Given the description of an element on the screen output the (x, y) to click on. 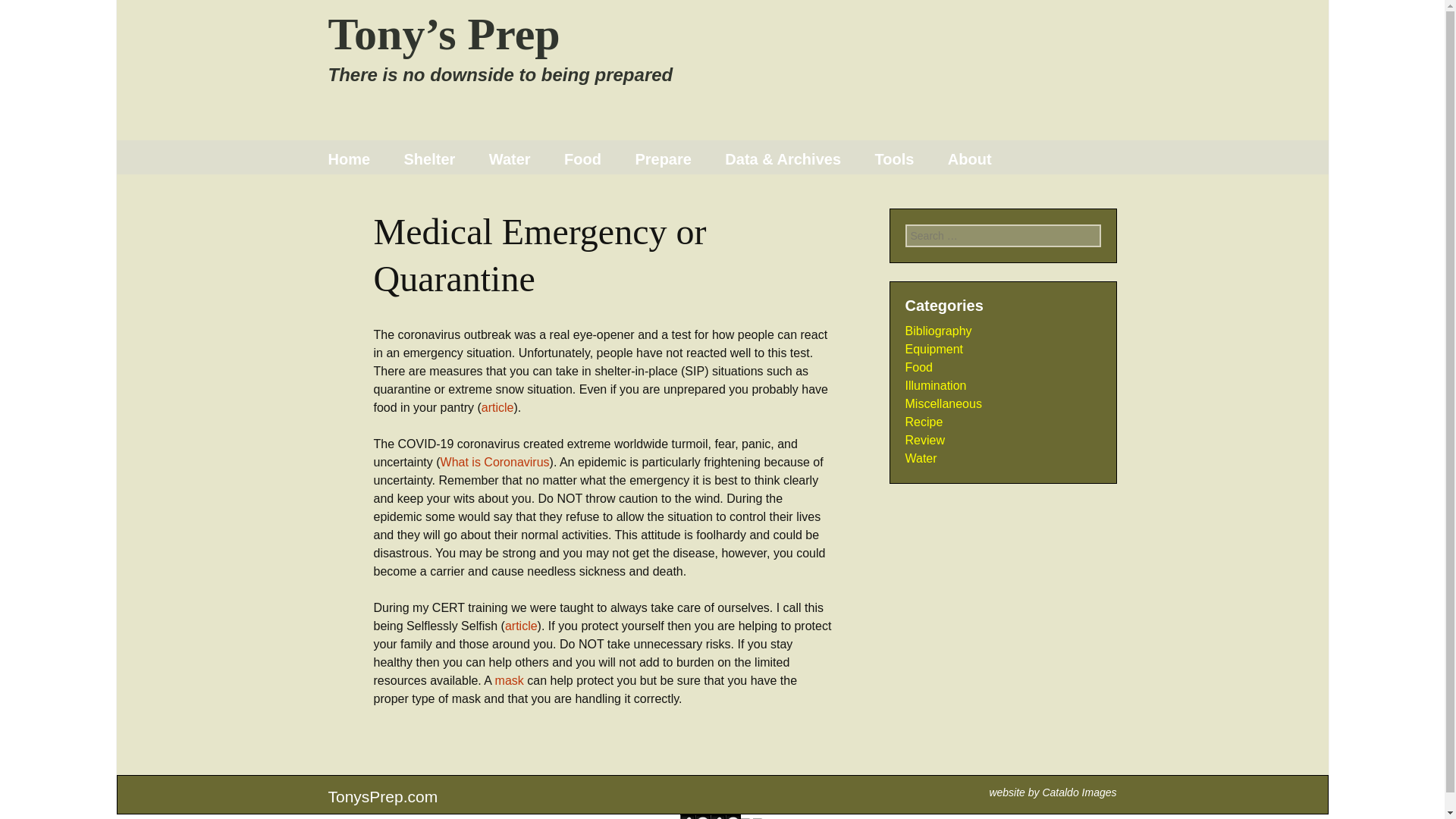
Prepare (663, 159)
Water (510, 159)
Shelter (429, 159)
Water Filtration (550, 197)
Pantry Food (624, 197)
Home (349, 159)
Emergencies (695, 197)
Getting Started (785, 197)
Websites, Programming, Technical Writing (1079, 792)
Tents (464, 197)
Food (581, 159)
